Given the description of an element on the screen output the (x, y) to click on. 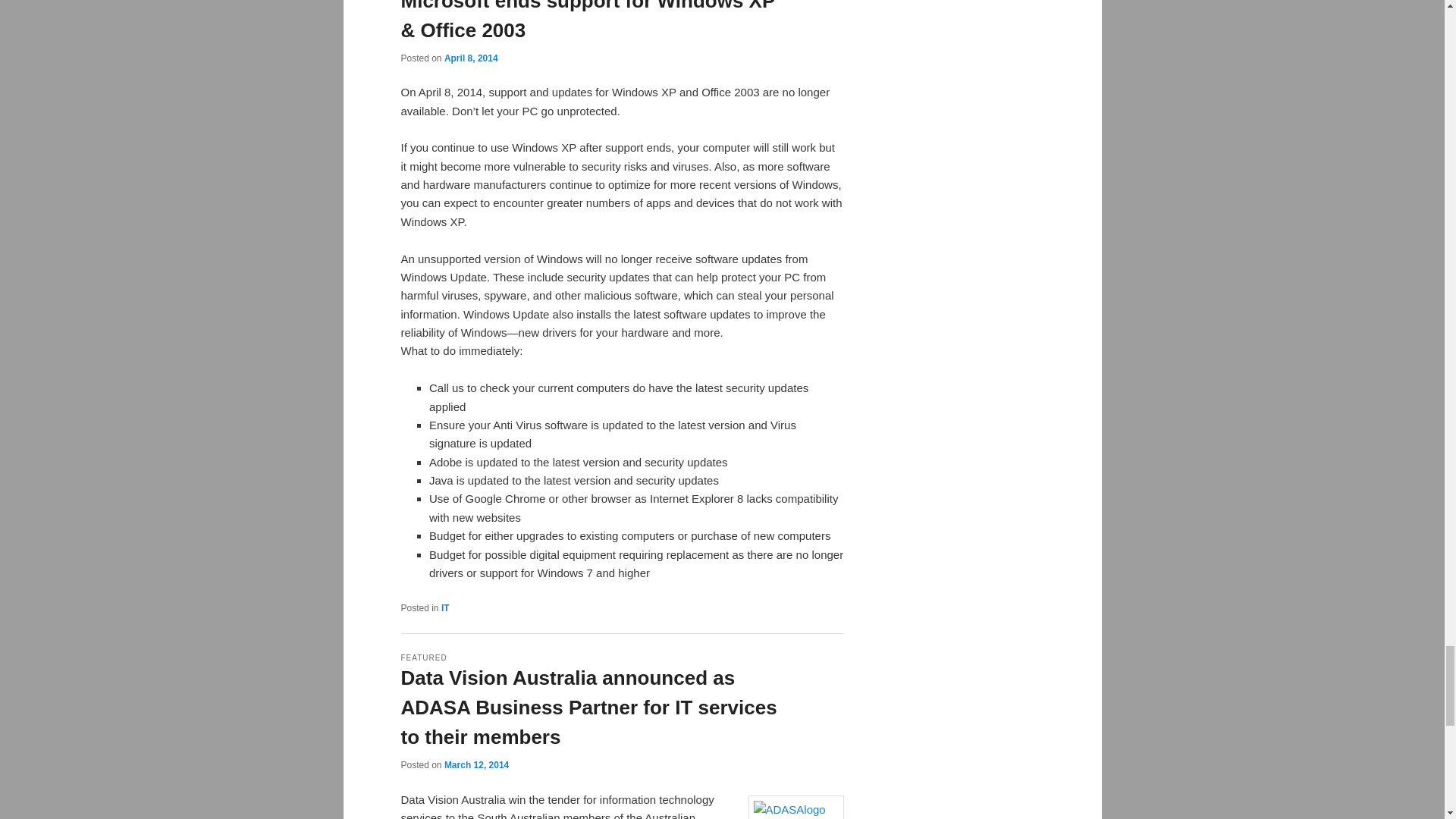
5:26 PM (470, 58)
